Given the description of an element on the screen output the (x, y) to click on. 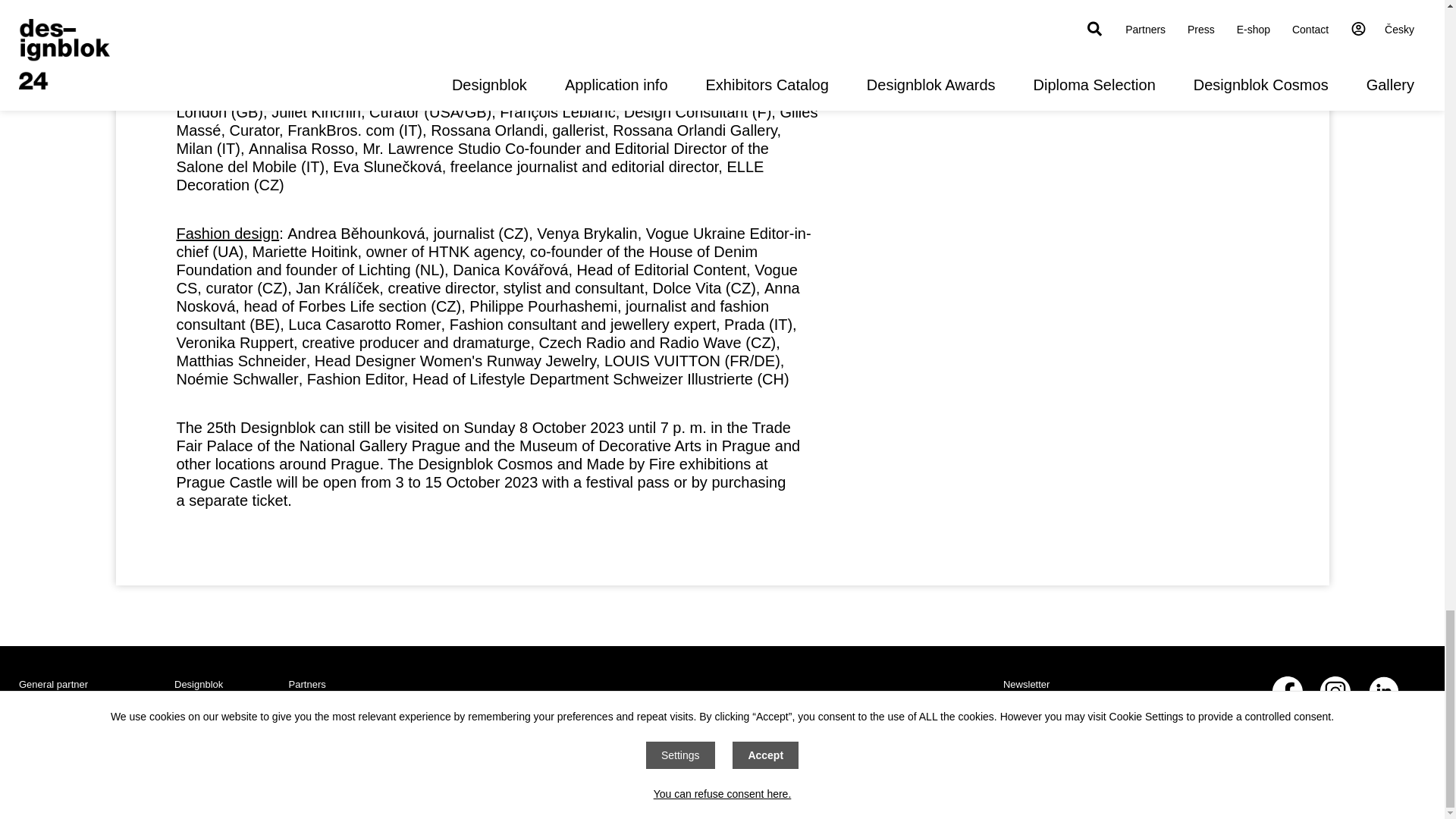
Subscribe (1174, 750)
